Given the description of an element on the screen output the (x, y) to click on. 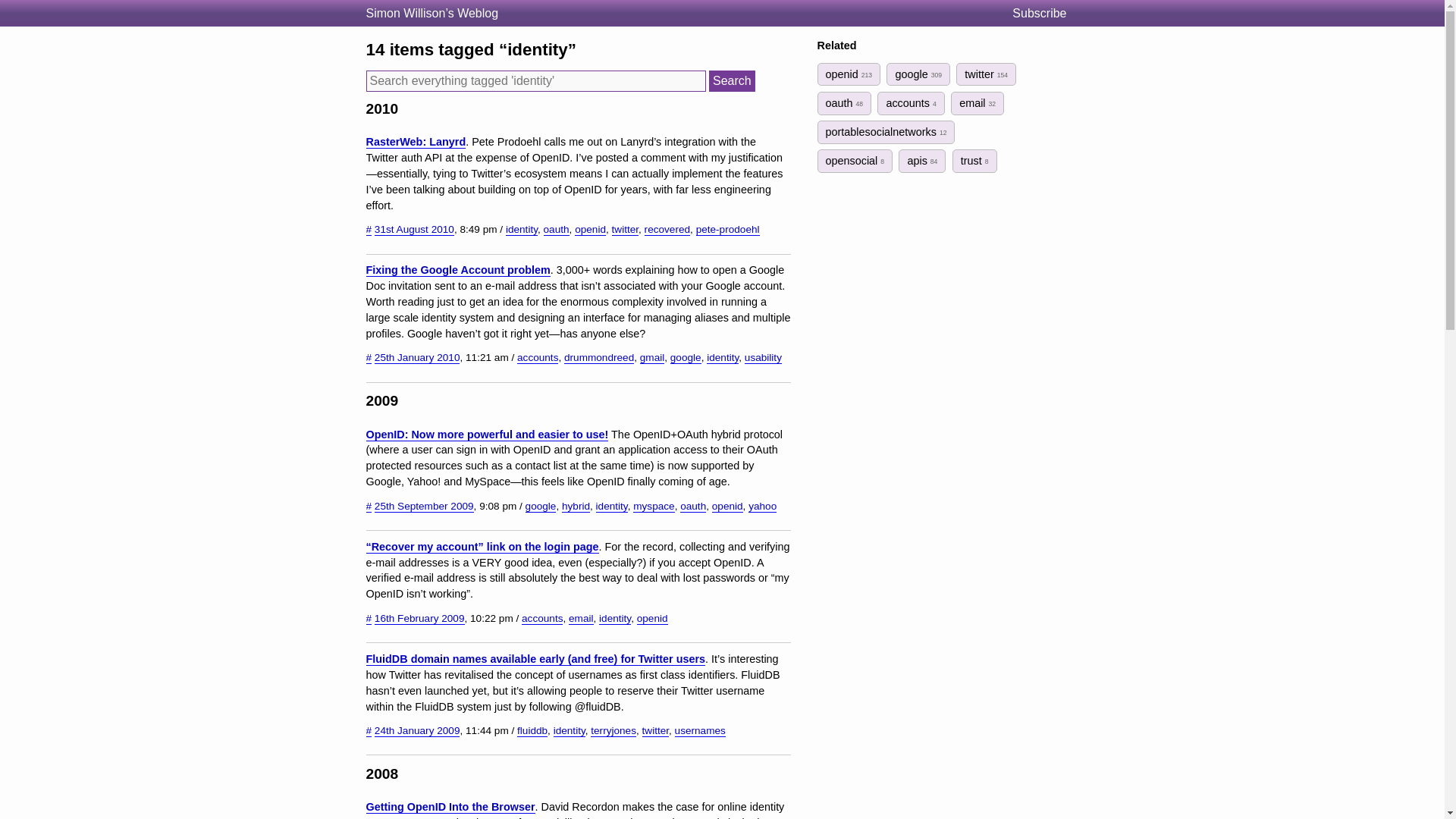
google (540, 506)
identity (611, 506)
drummondreed (598, 357)
myspace (653, 506)
RasterWeb: Lanyrd (415, 141)
hybrid (575, 506)
recovered (667, 229)
OpenID: Now more powerful and easier to use! (486, 434)
openid (652, 618)
31st August 2010 (414, 229)
pete-prodoehl (727, 229)
yahoo (762, 506)
openid (590, 229)
Search (732, 80)
Search (732, 80)
